Given the description of an element on the screen output the (x, y) to click on. 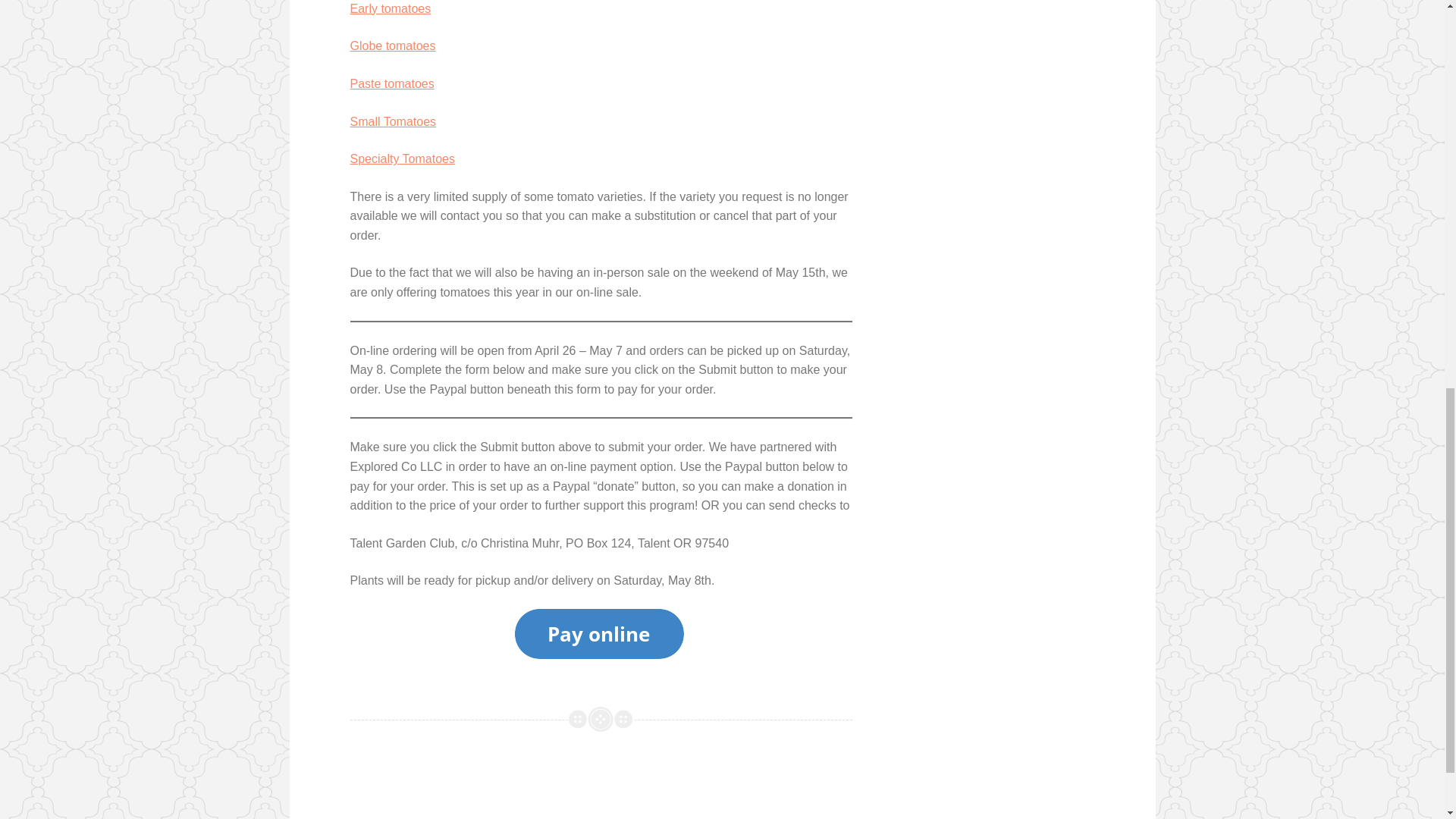
PayPal - The safer, easier way to pay online! (599, 634)
Globe tomatoes (392, 45)
Small Tomatoes (393, 121)
Specialty Tomatoes (402, 158)
Paste tomatoes (391, 83)
Early tomatoes (390, 8)
